Given the description of an element on the screen output the (x, y) to click on. 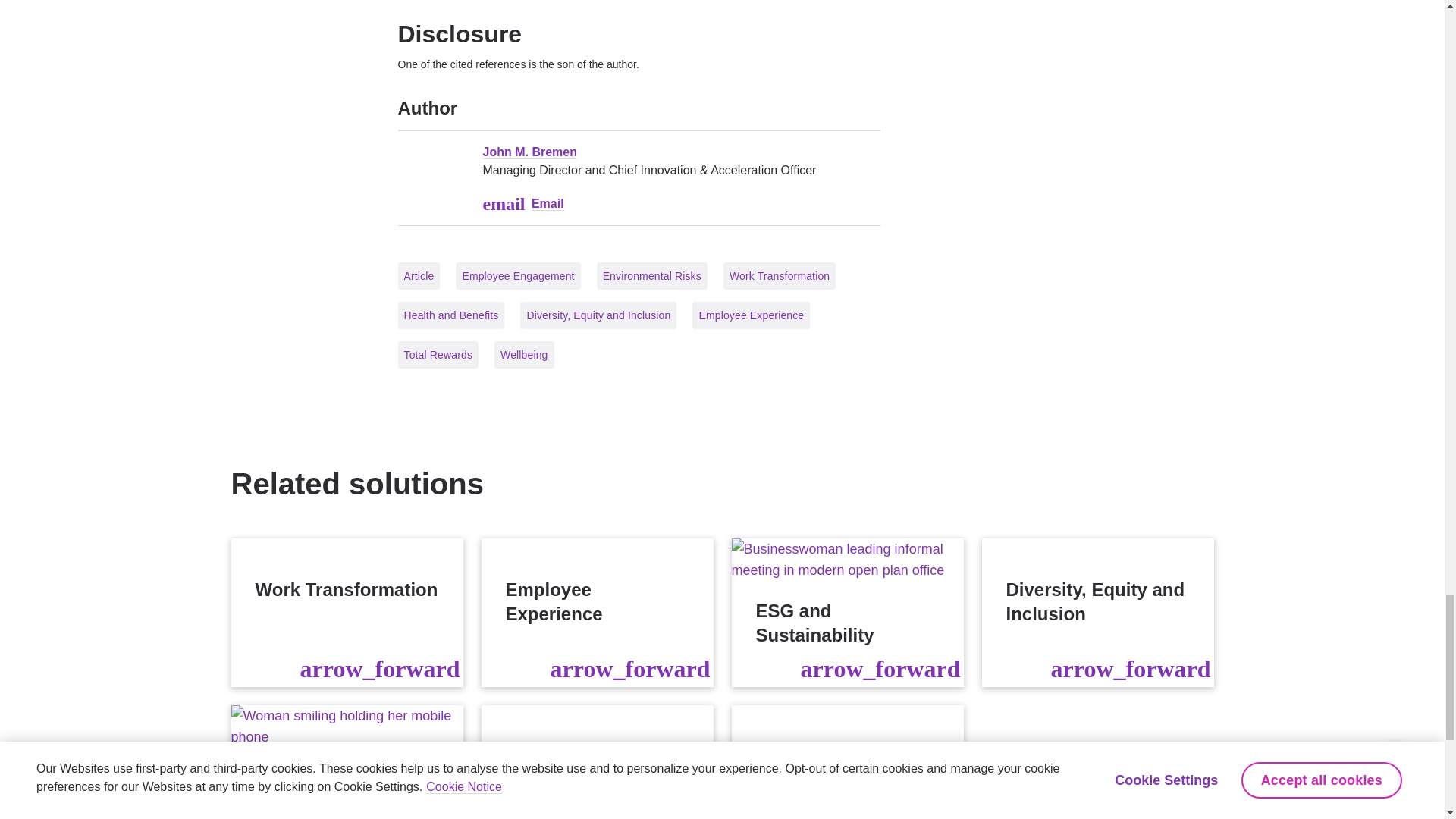
Employee Experience (596, 612)
Diversity, Equity and Inclusion (1096, 612)
Wellbeing (846, 762)
Employee Engagement (346, 762)
Work Transformation (346, 612)
Health and Benefits (596, 762)
ESG and Sustainability (846, 612)
